Given the description of an element on the screen output the (x, y) to click on. 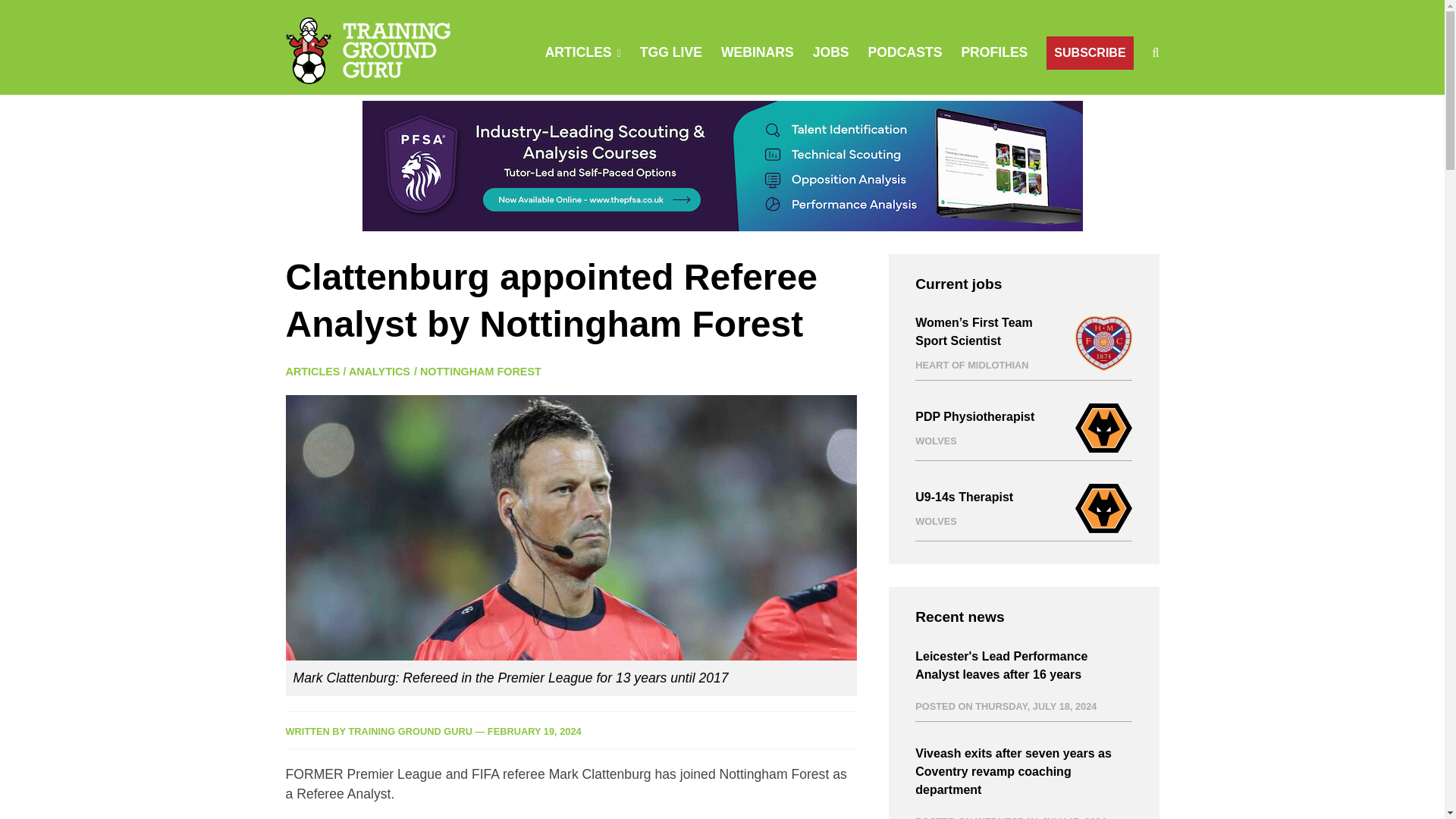
TGG LIVE (670, 52)
Submit a job (830, 52)
Search (950, 123)
NOTTINGHAM FOREST (480, 371)
ANALYTICS (379, 371)
WEBINARS (756, 52)
PROFILES (993, 52)
PODCASTS (904, 52)
ARTICLES (577, 52)
Webinars (756, 52)
ARTICLES (312, 371)
Podcasts (904, 52)
JOBS (830, 52)
TGG Live 2024 (670, 52)
Profiles (993, 52)
